Given the description of an element on the screen output the (x, y) to click on. 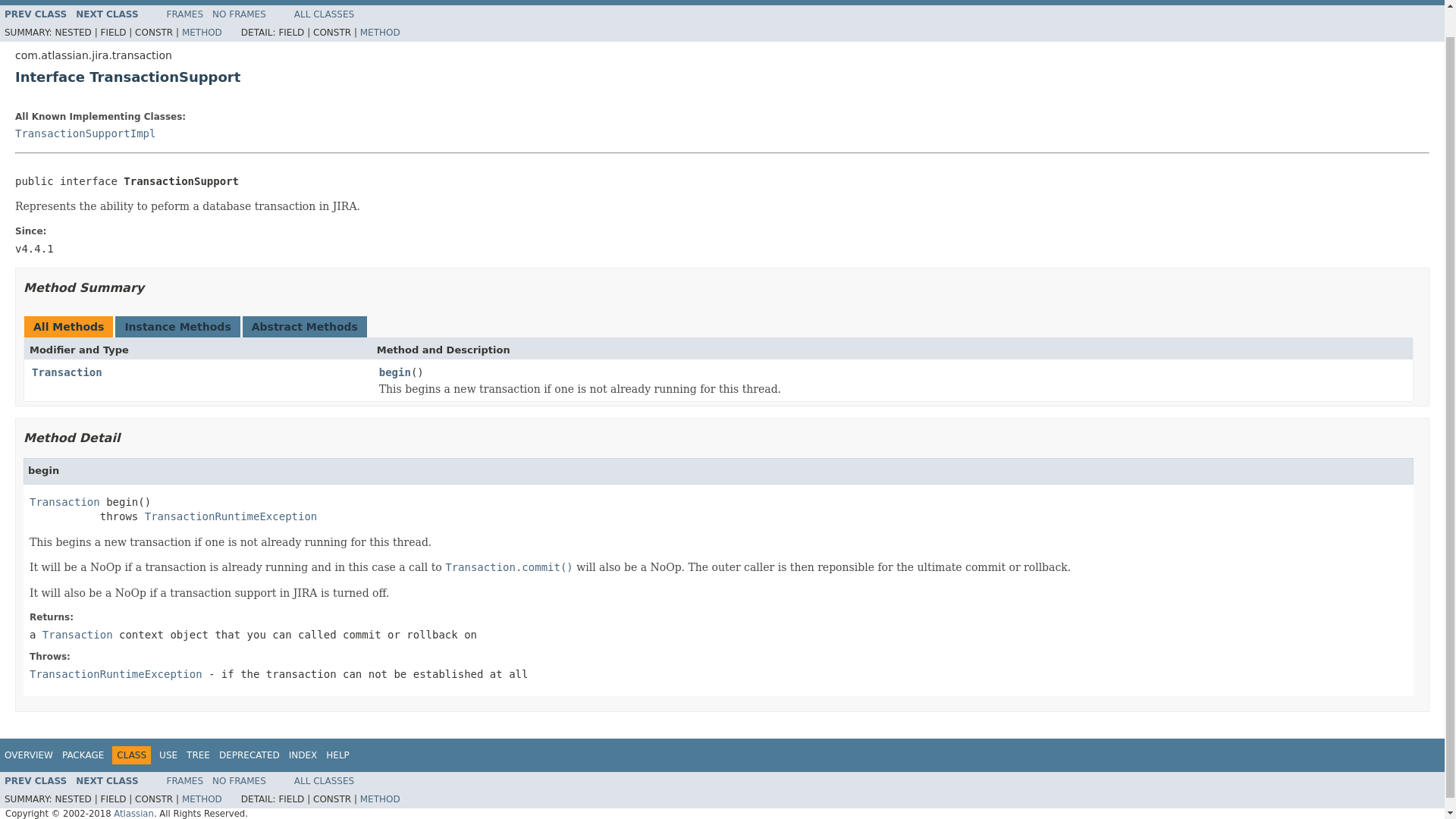
NO FRAMES (239, 14)
NEXT CLASS (106, 14)
Transaction (64, 500)
Navigation (176, 755)
FRAMES (185, 14)
OVERVIEW (28, 755)
PACKAGE (82, 755)
Interface TransactionSupport (721, 76)
PREV CLASS (35, 14)
Instance Methods (176, 326)
